Given the description of an element on the screen output the (x, y) to click on. 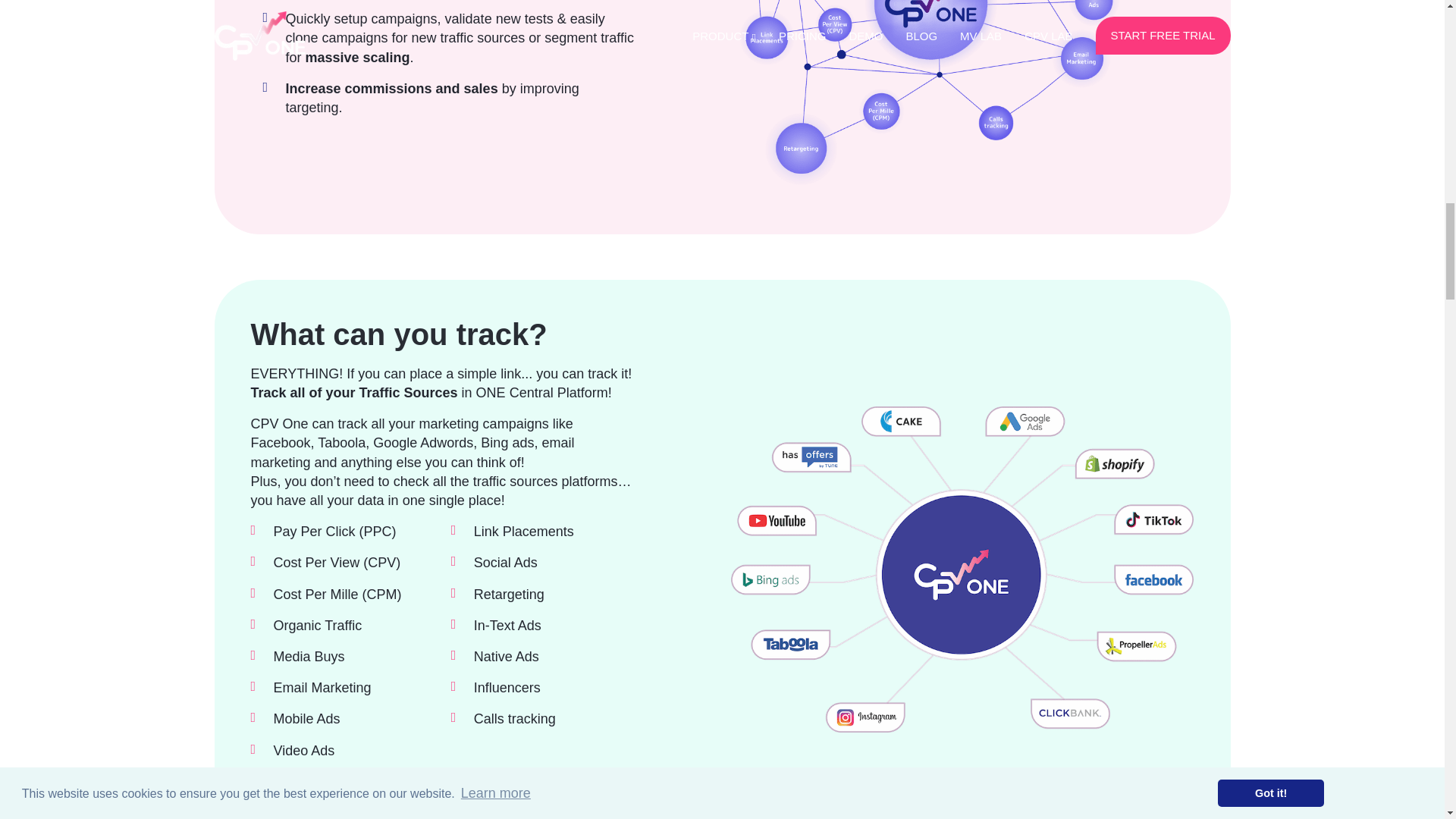
Start your Free Trial (330, 801)
